Given the description of an element on the screen output the (x, y) to click on. 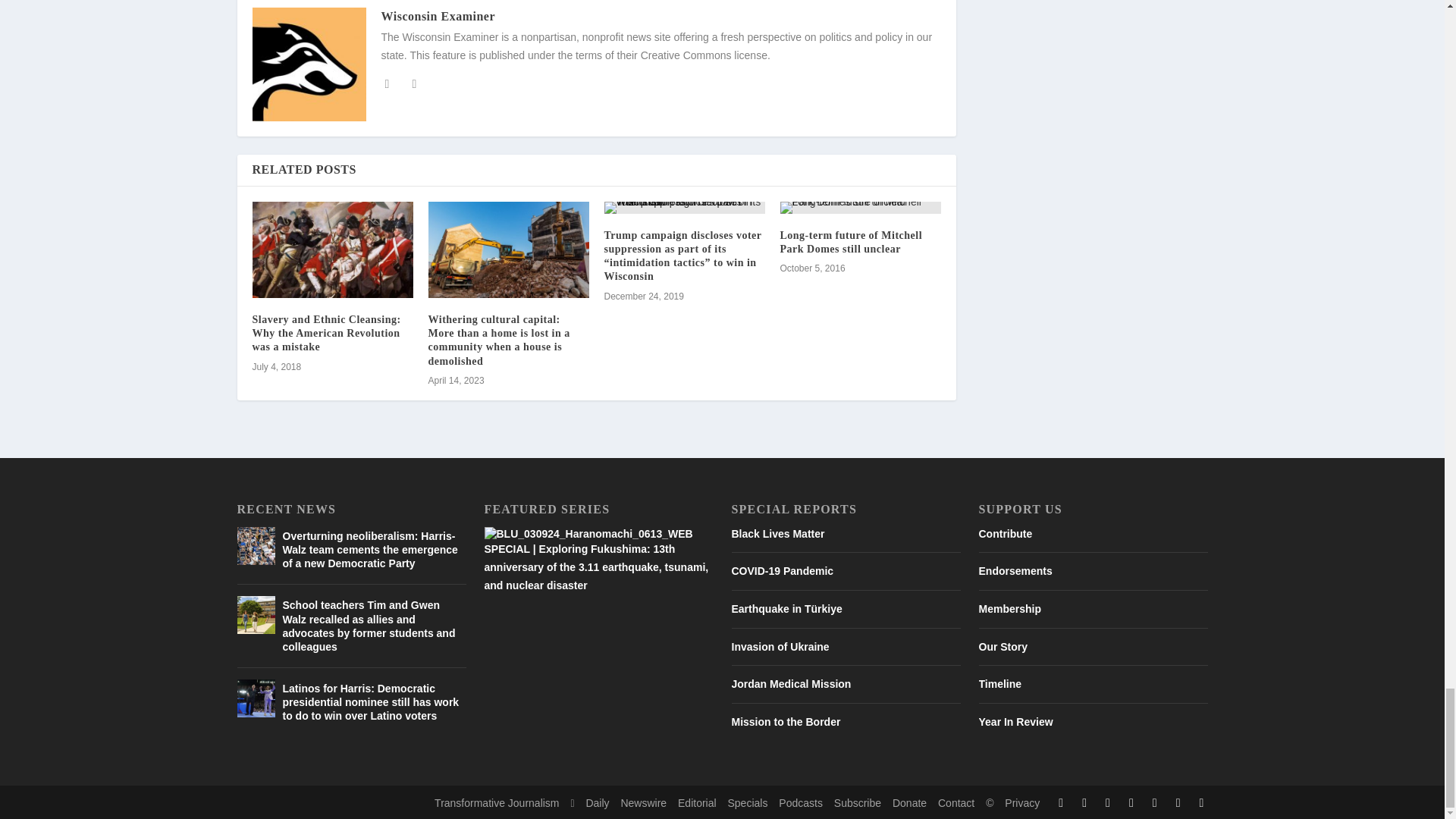
View all posts by Wisconsin Examiner (437, 15)
Long-term future of Mitchell Park Domes still unclear (859, 207)
